Given the description of an element on the screen output the (x, y) to click on. 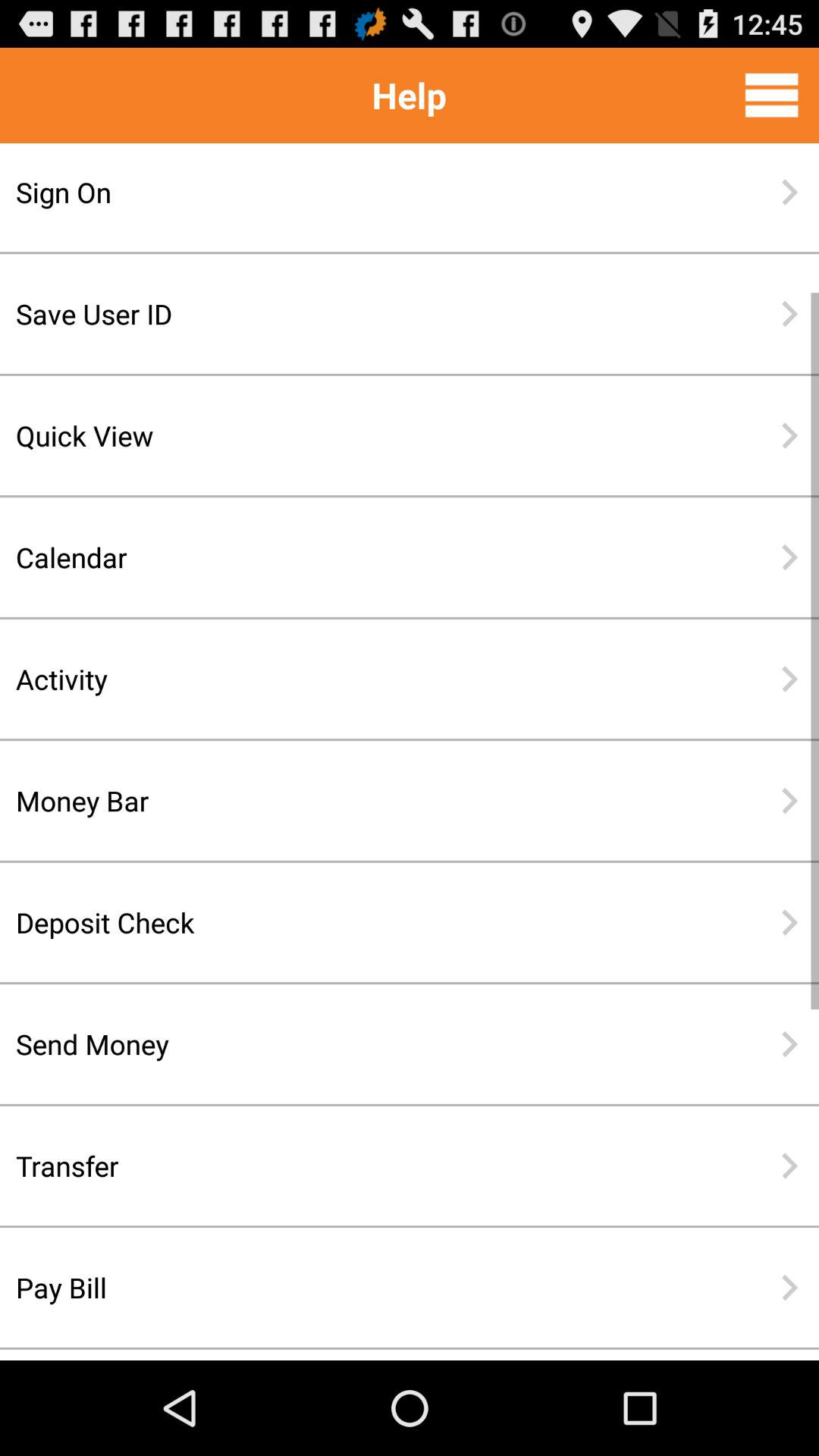
swipe to transfer item (359, 1165)
